Given the description of an element on the screen output the (x, y) to click on. 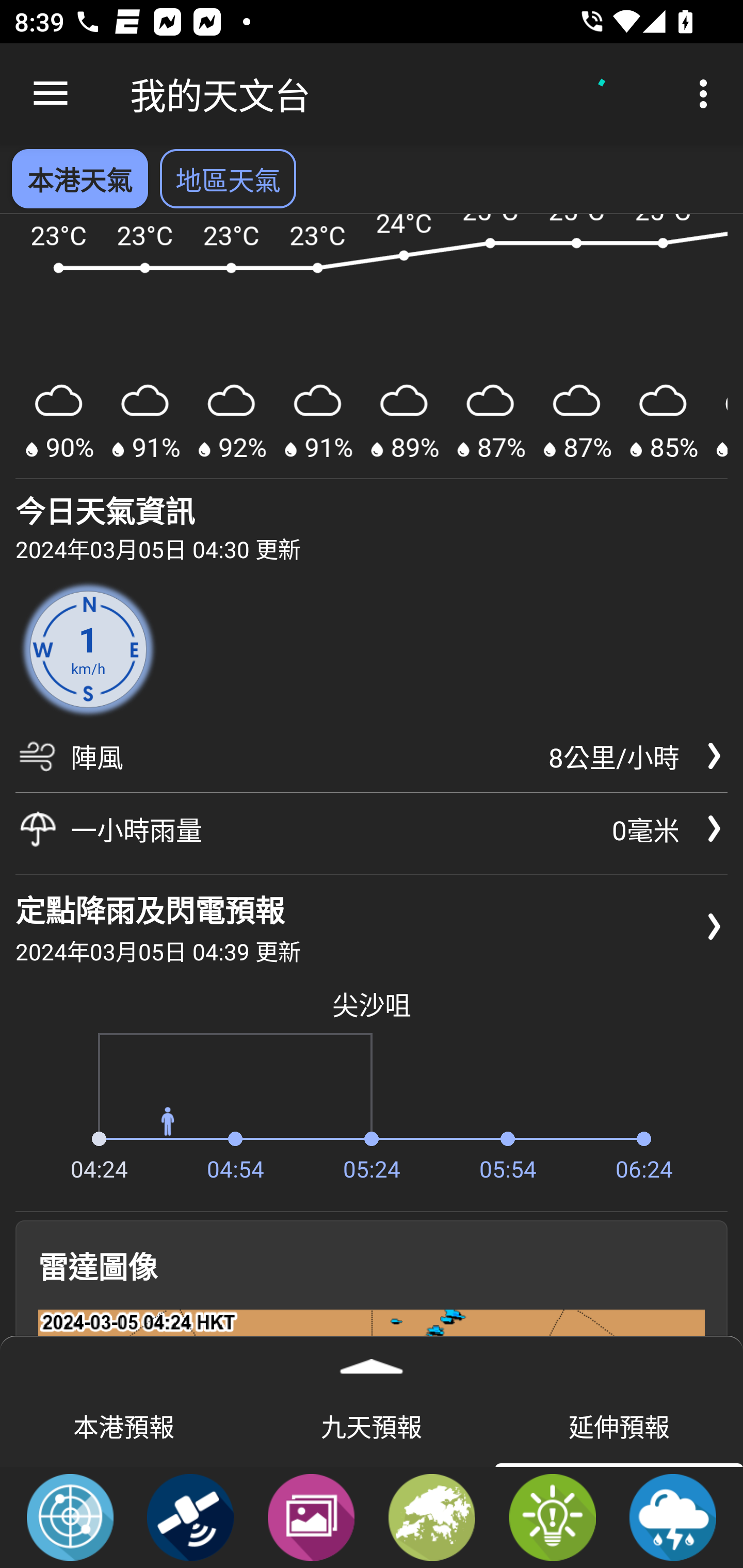
向上瀏覽 (50, 93)
更多選項 (706, 93)
本港天氣 已選擇 本港天氣 (79, 178)
地區天氣 選擇 地區天氣 (227, 178)
九天自動天氣預報 圖片
輕按進入內頁，即可了解詳細資料。 ARWF (371, 346)
風向不定
風速每小時1公里 1 km/h (88, 649)
陣風 8公里/小時 陣風 8公里/小時 (371, 763)
一小時雨量 0毫米 一小時雨量 0毫米 (371, 828)
展開 (371, 1358)
本港預報 (123, 1424)
九天預報 (371, 1424)
雷達圖像 (69, 1516)
衛星圖像 (190, 1516)
天氣照片 (310, 1516)
分區天氣 (431, 1516)
天氣提示 (551, 1516)
定點降雨及閃電預報 (672, 1516)
